Given the description of an element on the screen output the (x, y) to click on. 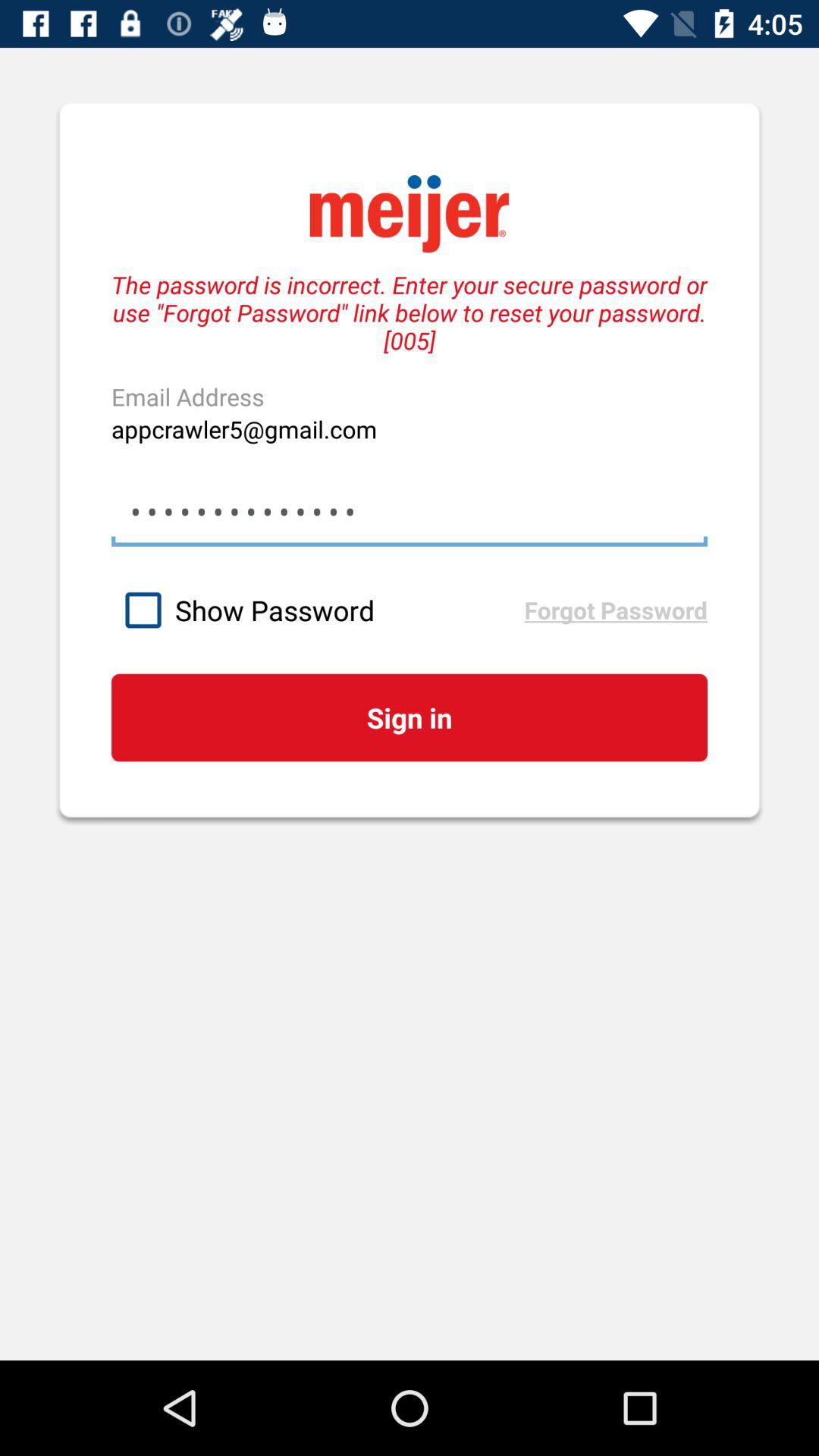
swipe to show password item (317, 610)
